Given the description of an element on the screen output the (x, y) to click on. 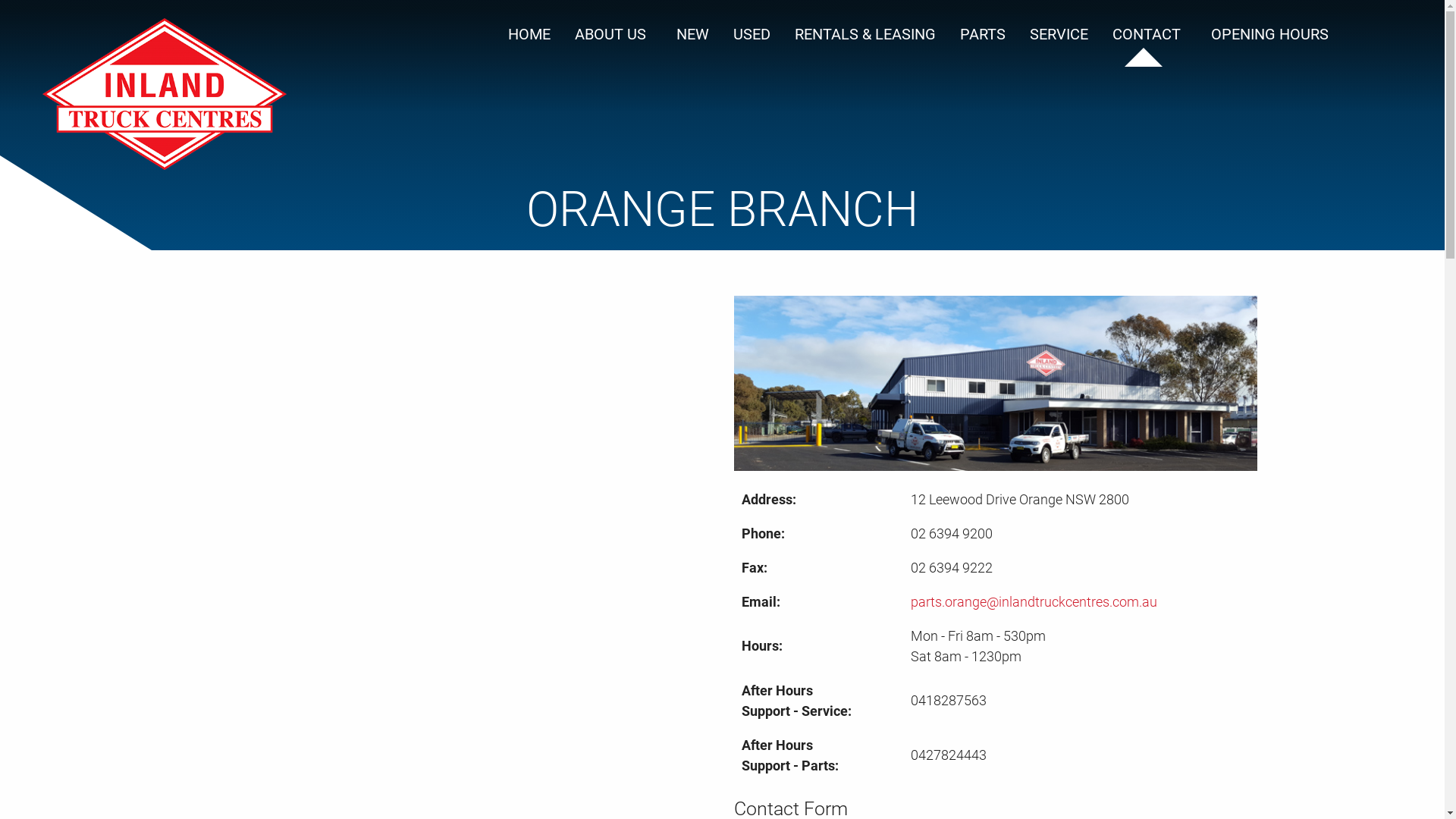
ABOUT US Element type: text (613, 34)
parts.orange@inlandtruckcentres.com.au Element type: text (1033, 601)
OPENING HOURS Element type: text (1269, 34)
CONTACT Element type: text (1149, 34)
NEW Element type: text (692, 34)
USED Element type: text (751, 34)
PARTS Element type: text (982, 34)
SERVICE Element type: text (1058, 34)
HOME Element type: text (528, 34)
RENTALS & LEASING Element type: text (864, 34)
